Given the description of an element on the screen output the (x, y) to click on. 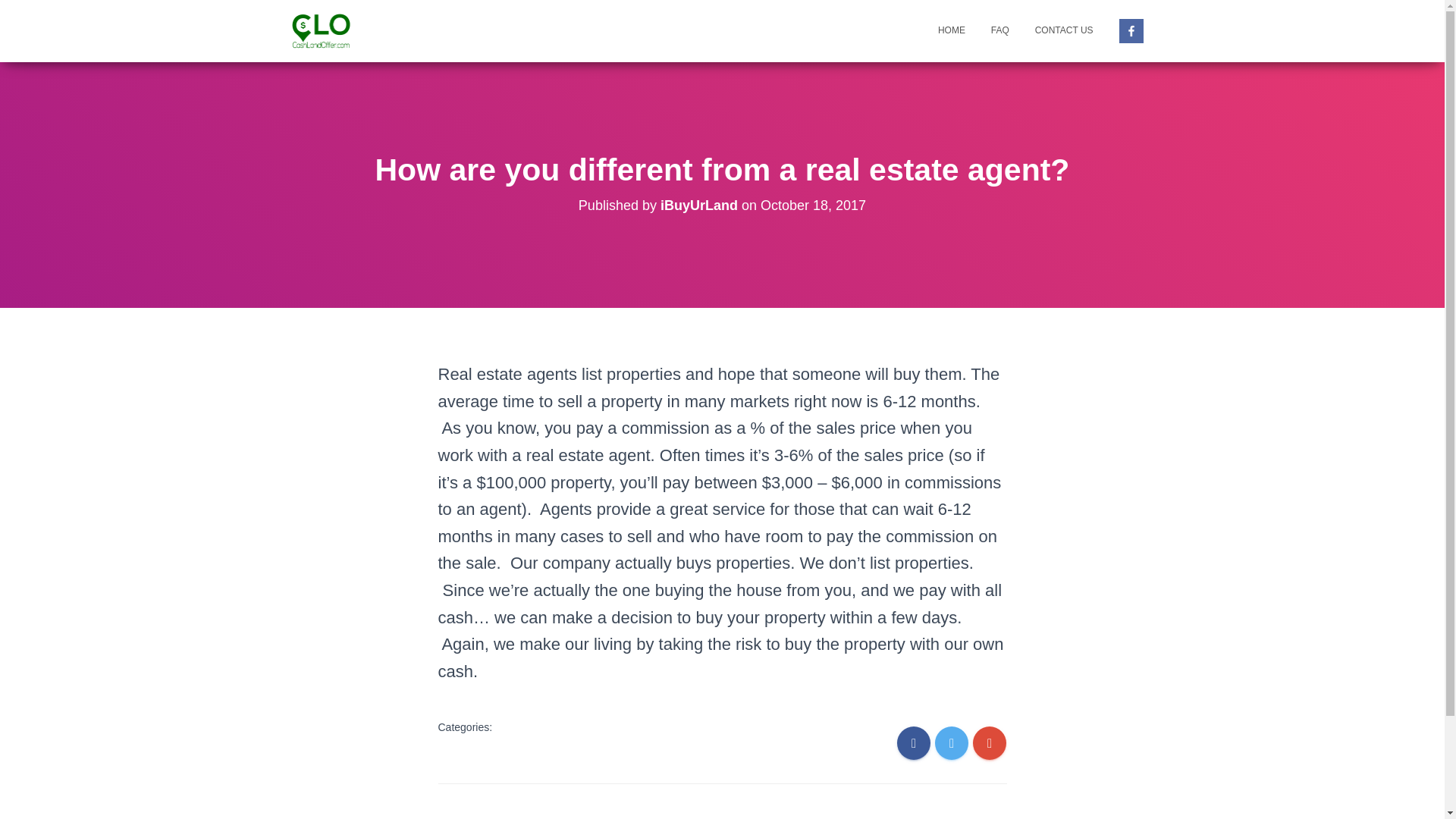
FAQ (999, 30)
iBuyUrLand (699, 205)
HOME (951, 30)
FAQ (999, 30)
Home (951, 30)
CONTACT US (1064, 30)
Contact Us (1064, 30)
Cash Land Offer (320, 30)
